Given the description of an element on the screen output the (x, y) to click on. 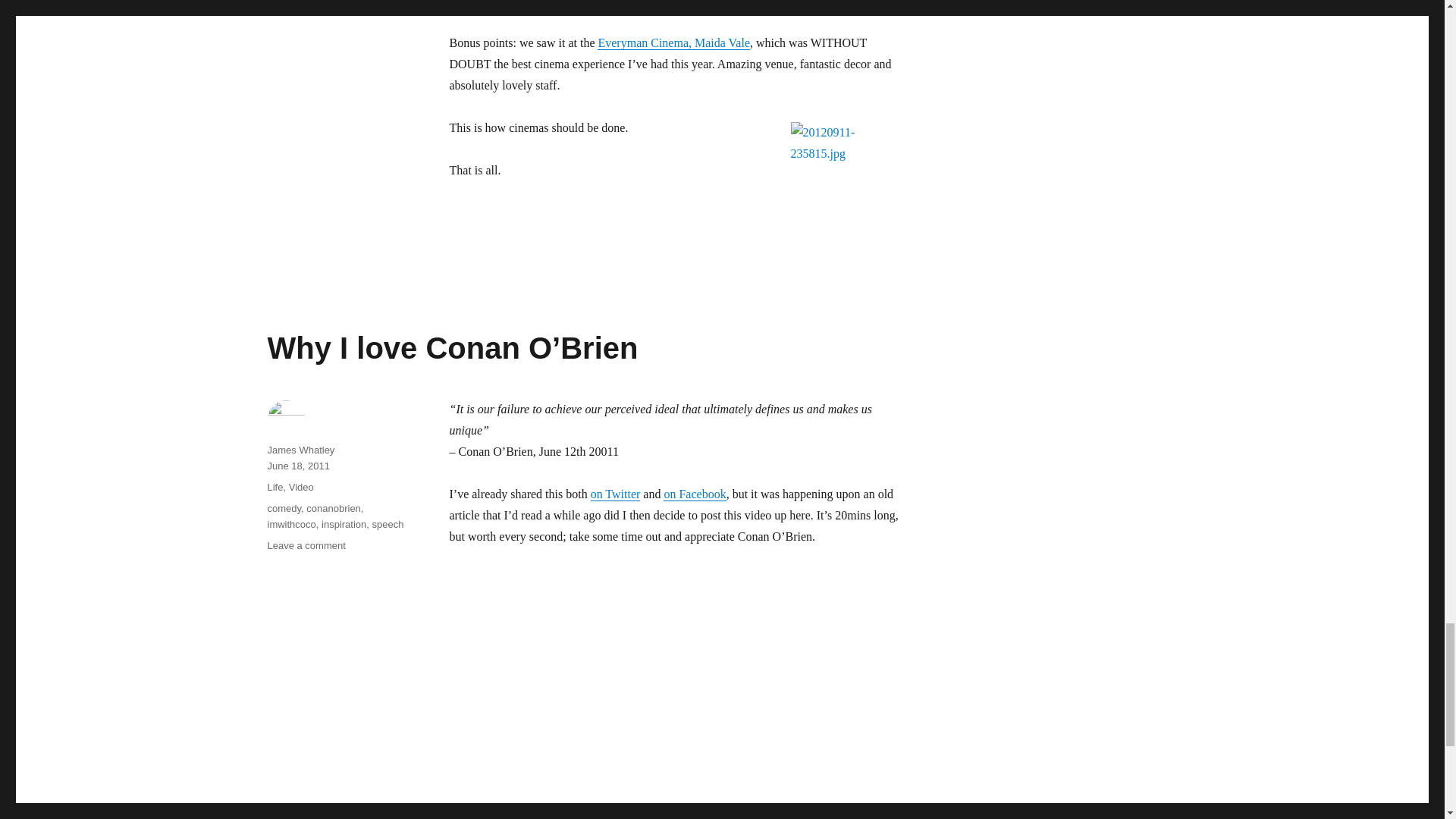
worth seeing (521, 3)
